Given the description of an element on the screen output the (x, y) to click on. 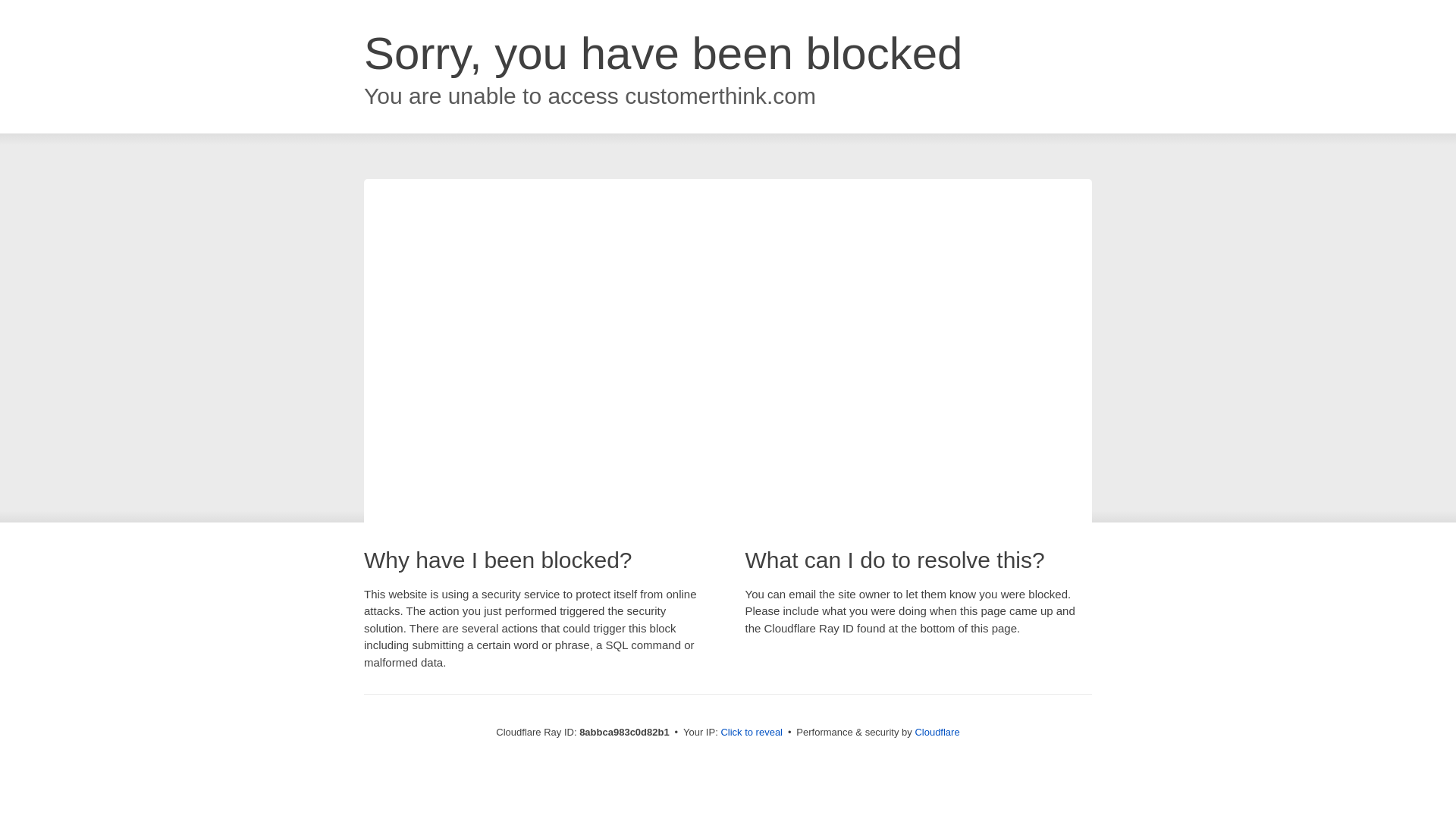
Click to reveal (751, 732)
Cloudflare (936, 731)
